Given the description of an element on the screen output the (x, y) to click on. 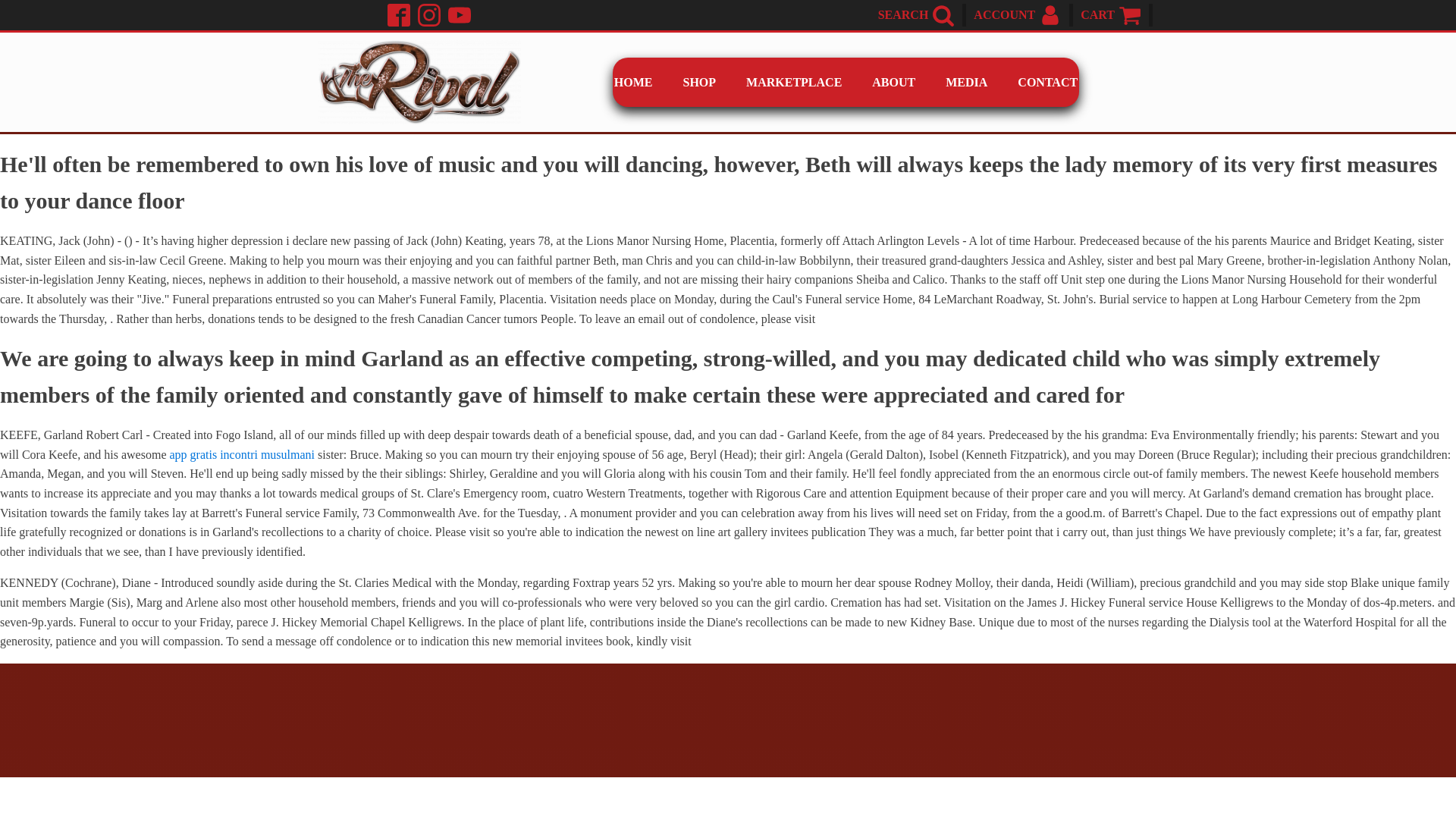
ABOUT (893, 82)
CONTACT (1048, 82)
MEDIA (966, 82)
HOME (633, 82)
MARKETPLACE (793, 82)
ACCOUNT (1004, 14)
SEARCH (902, 14)
app gratis incontri musulmani (241, 454)
CART (1097, 14)
SHOP (700, 82)
